Given the description of an element on the screen output the (x, y) to click on. 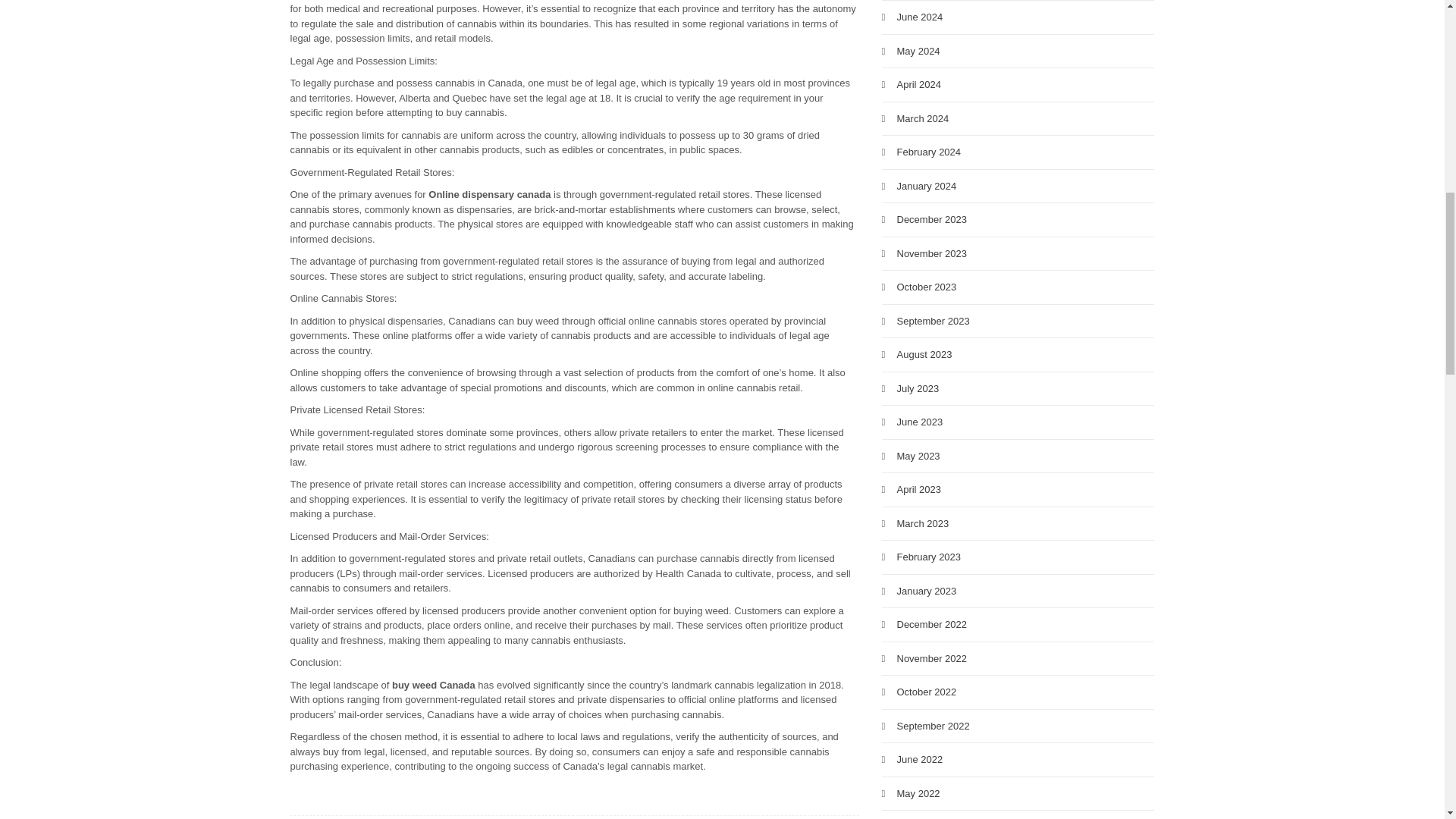
May 2024 (917, 50)
December 2023 (931, 219)
November 2023 (931, 253)
January 2024 (926, 185)
March 2024 (922, 118)
April 2024 (918, 84)
June 2024 (919, 16)
February 2024 (928, 152)
